Given the description of an element on the screen output the (x, y) to click on. 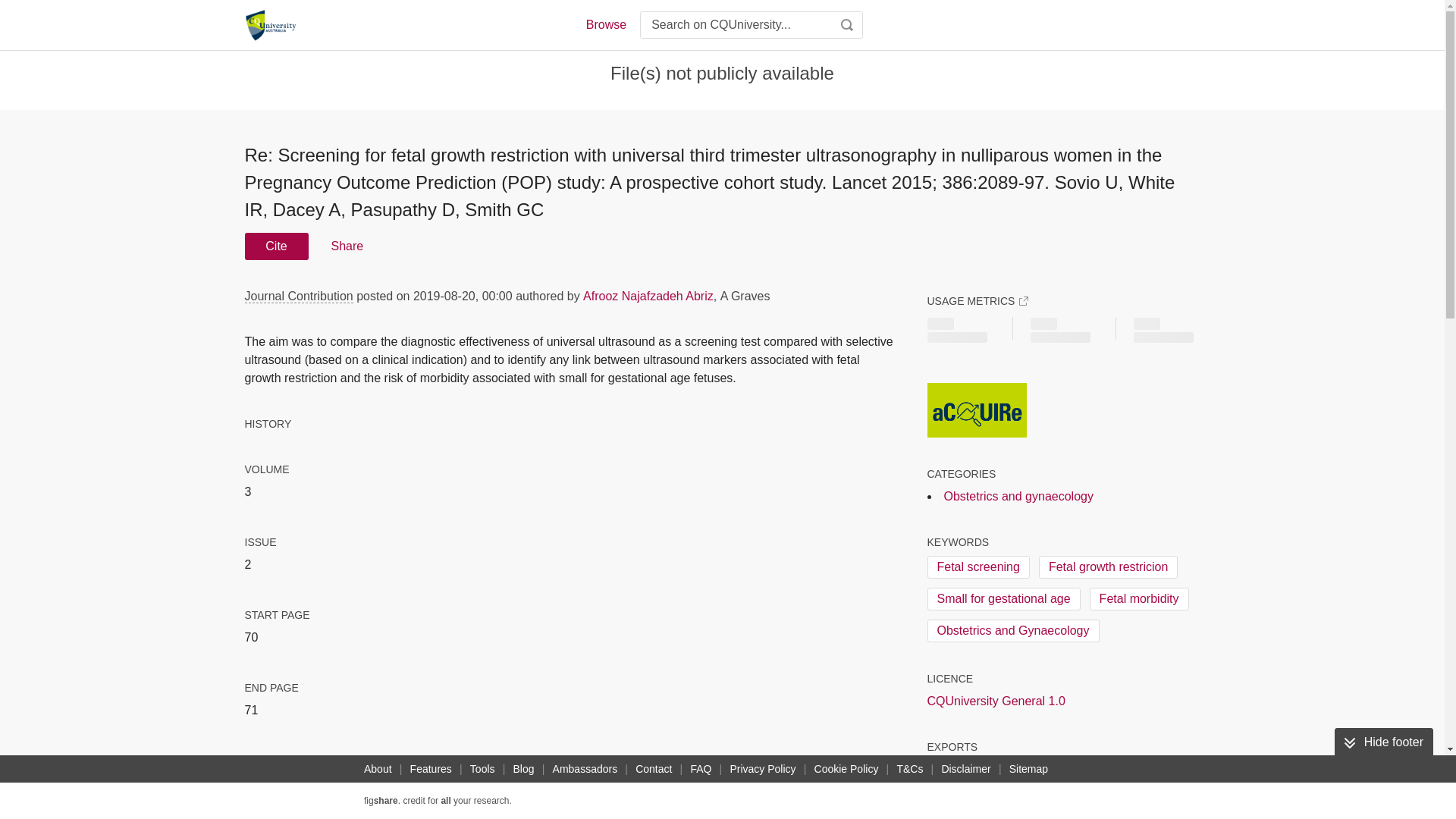
Ambassadors (585, 769)
About (377, 769)
USAGE METRICS (976, 300)
CQUniversity General 1.0 (995, 701)
Share (346, 246)
Tools (482, 769)
FAQ (700, 769)
Browse (605, 24)
Contact (653, 769)
Cookie Policy (846, 769)
Privacy Policy (762, 769)
Fetal growth restricion (1108, 567)
Sitemap (1028, 769)
Select an option (974, 769)
Afrooz Najafzadeh Abriz (648, 295)
